Given the description of an element on the screen output the (x, y) to click on. 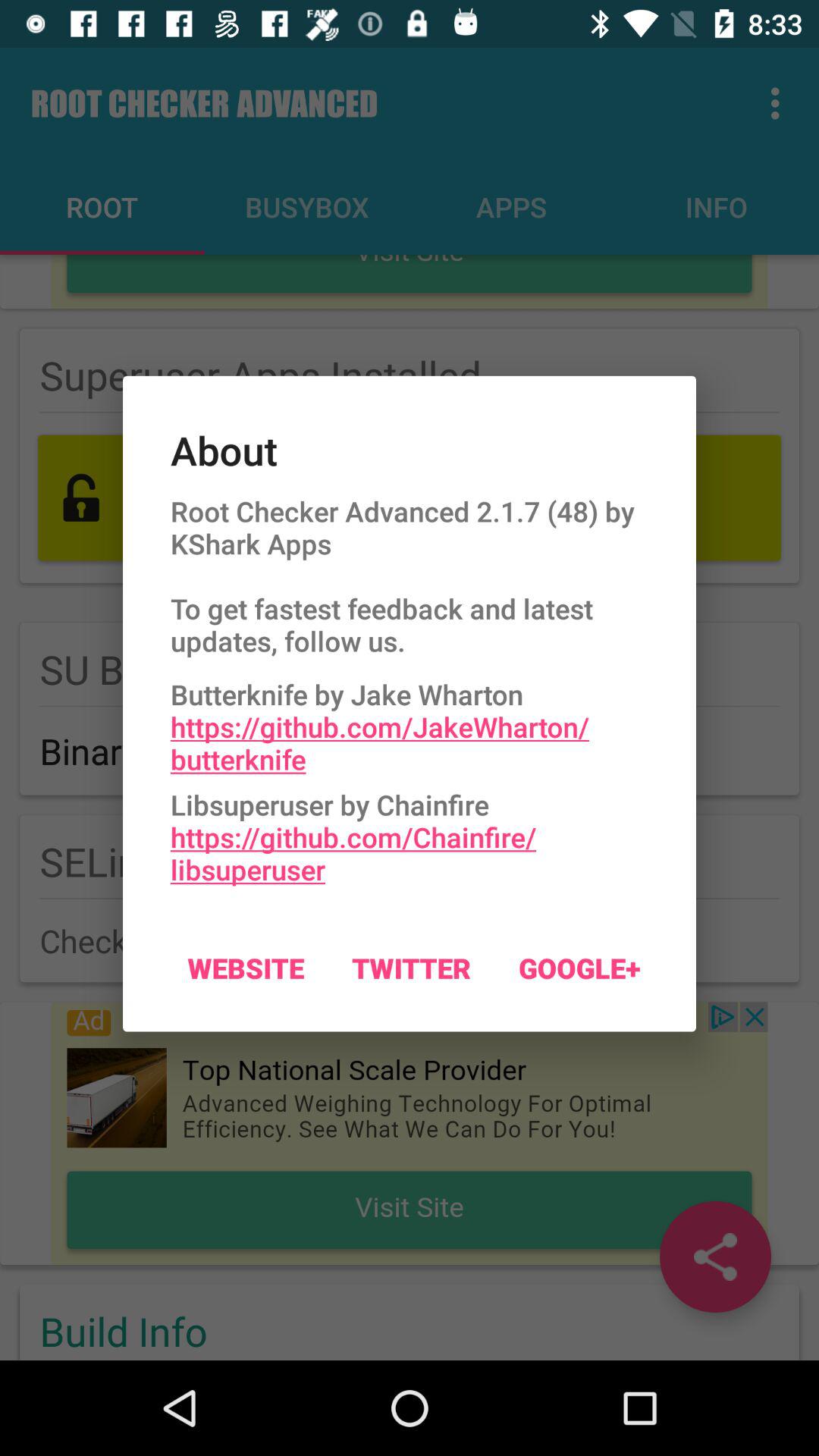
choose item next to the google+ item (411, 967)
